Given the description of an element on the screen output the (x, y) to click on. 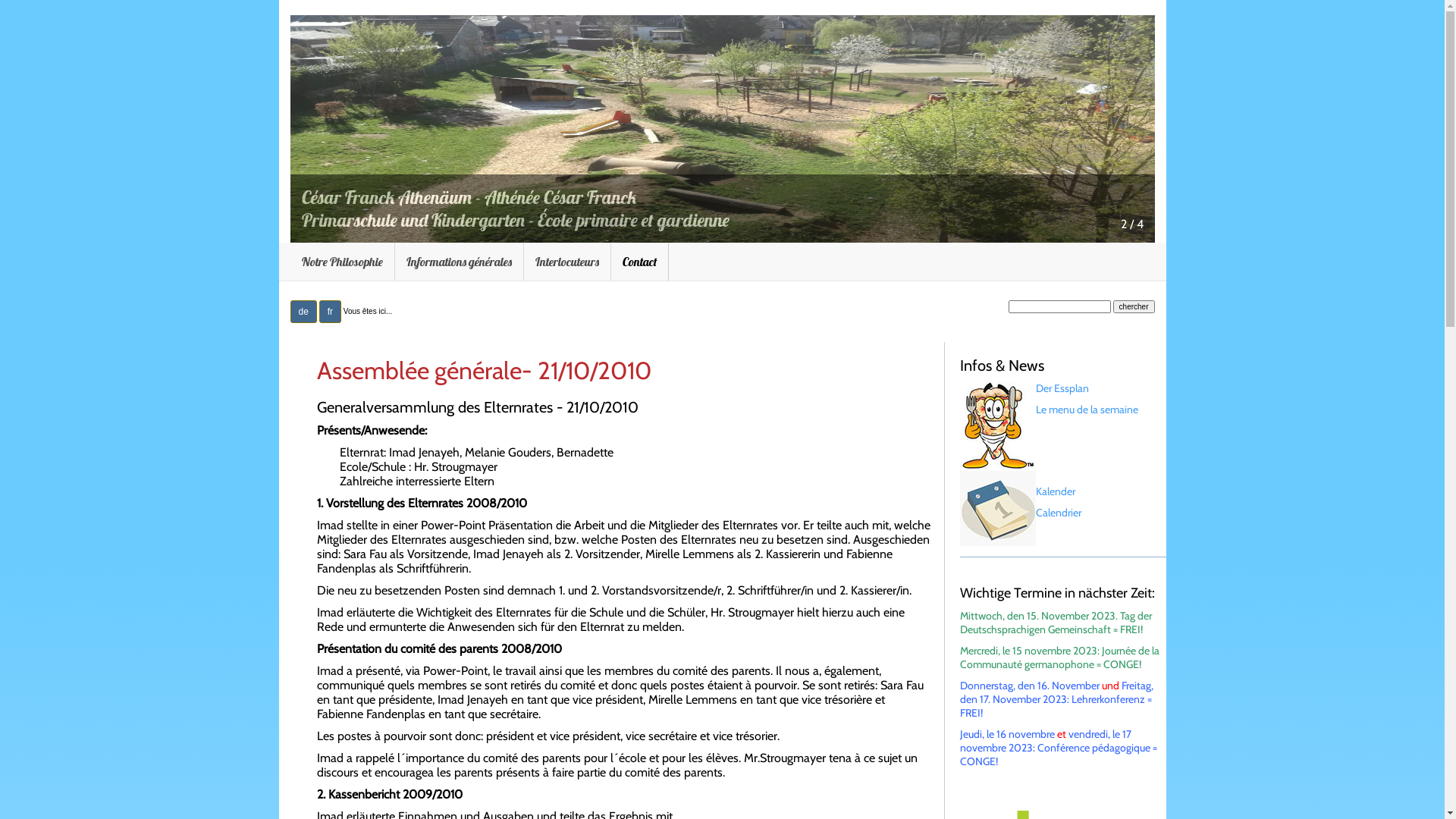
Notre Philosophie Element type: text (341, 261)
Le menu de la semaine Element type: text (1086, 409)
fr Element type: text (330, 311)
Interlocuteurs Element type: text (566, 261)
Contact Element type: text (639, 261)
Der Essplan Element type: text (1061, 388)
de Element type: text (302, 311)
Calendrier Element type: text (1058, 512)
Kalender Element type: text (1055, 491)
chercher Element type: text (1133, 306)
